Given the description of an element on the screen output the (x, y) to click on. 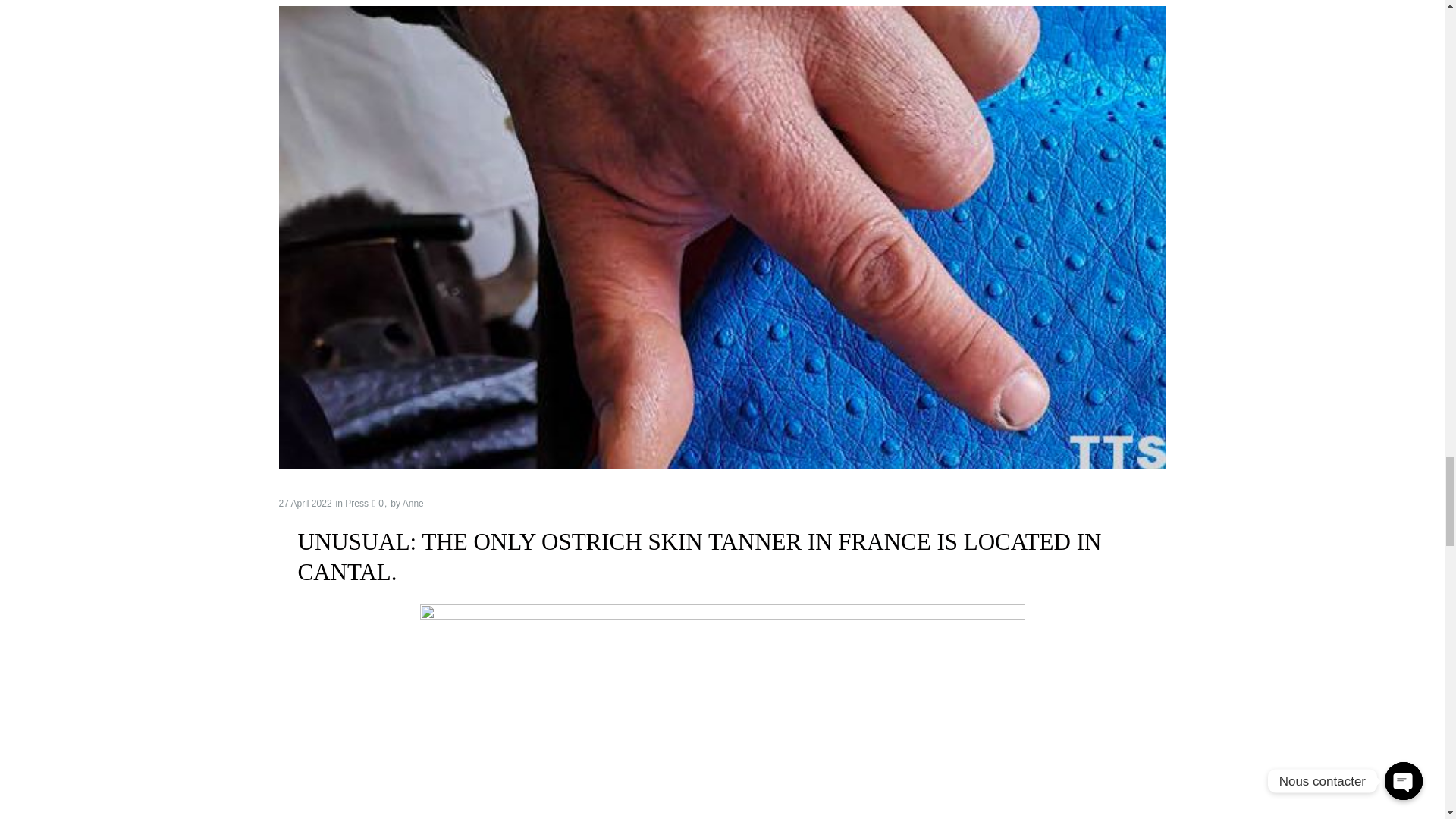
27 April 2022 (305, 502)
Anne (413, 502)
Press (356, 502)
0 (378, 502)
